Given the description of an element on the screen output the (x, y) to click on. 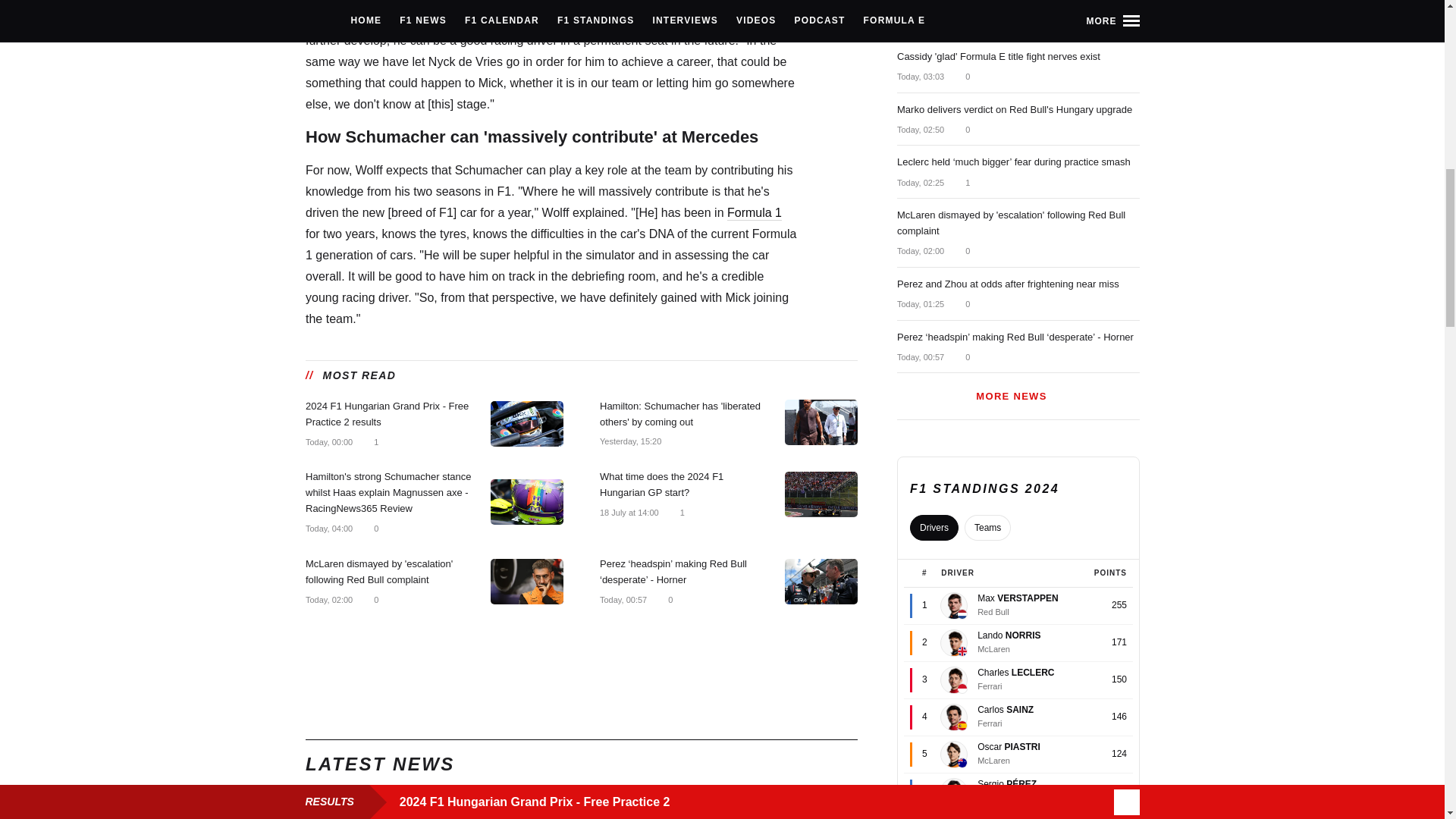
Saturday 20 July 2024 at 00:00 (328, 441)
Friday 19 July 2024 at 15:20 (629, 440)
Saturday 20 July 2024 at 04:00 (328, 528)
Saturday 20 July 2024 at 02:00 (328, 599)
Saturday 20 July 2024 at 00:57 (622, 599)
Thursday 18 July 2024 at 14:00 (628, 511)
